Given the description of an element on the screen output the (x, y) to click on. 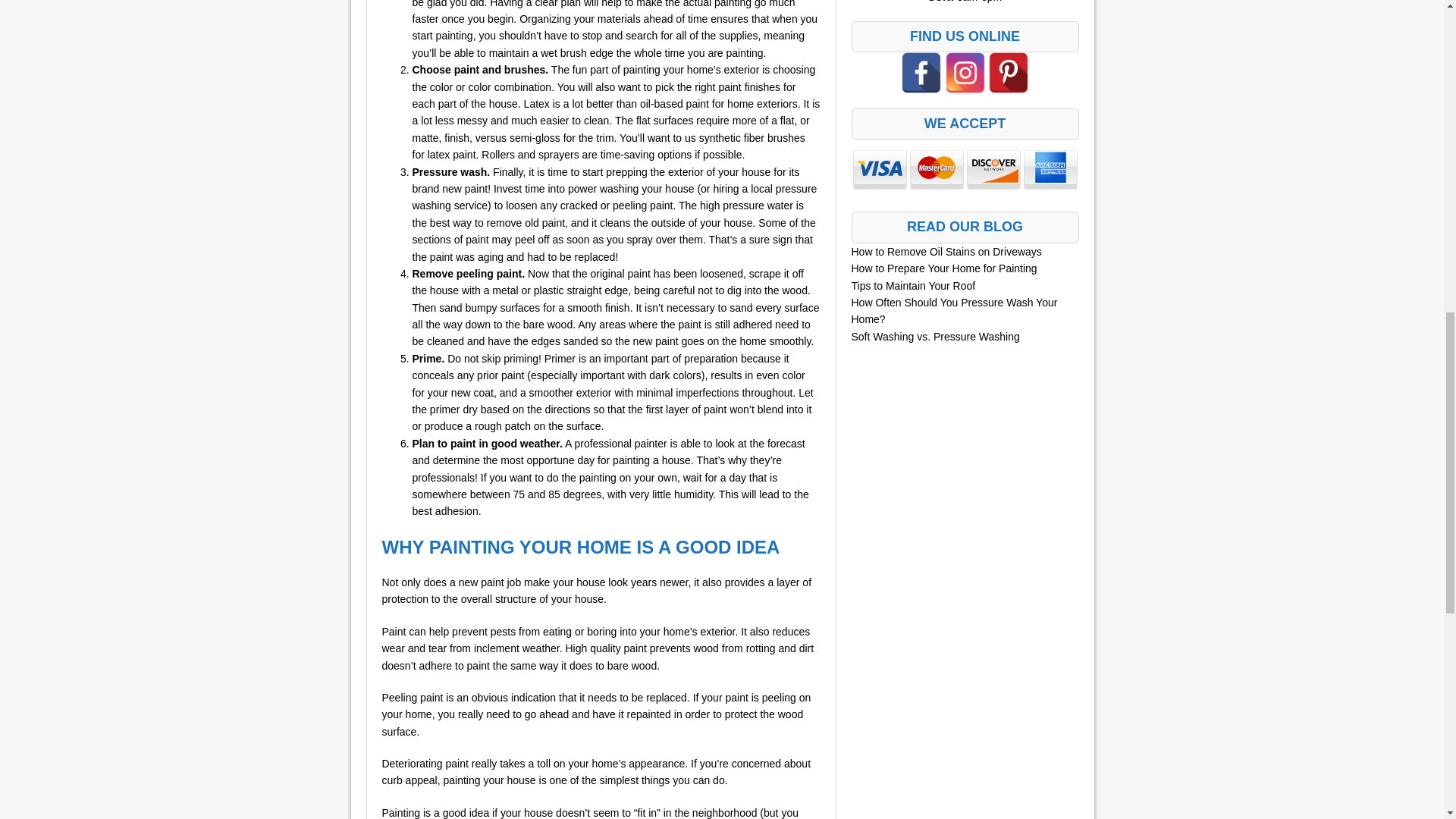
Instagram (964, 72)
Facebook (921, 72)
Pinterest (1008, 72)
